Given the description of an element on the screen output the (x, y) to click on. 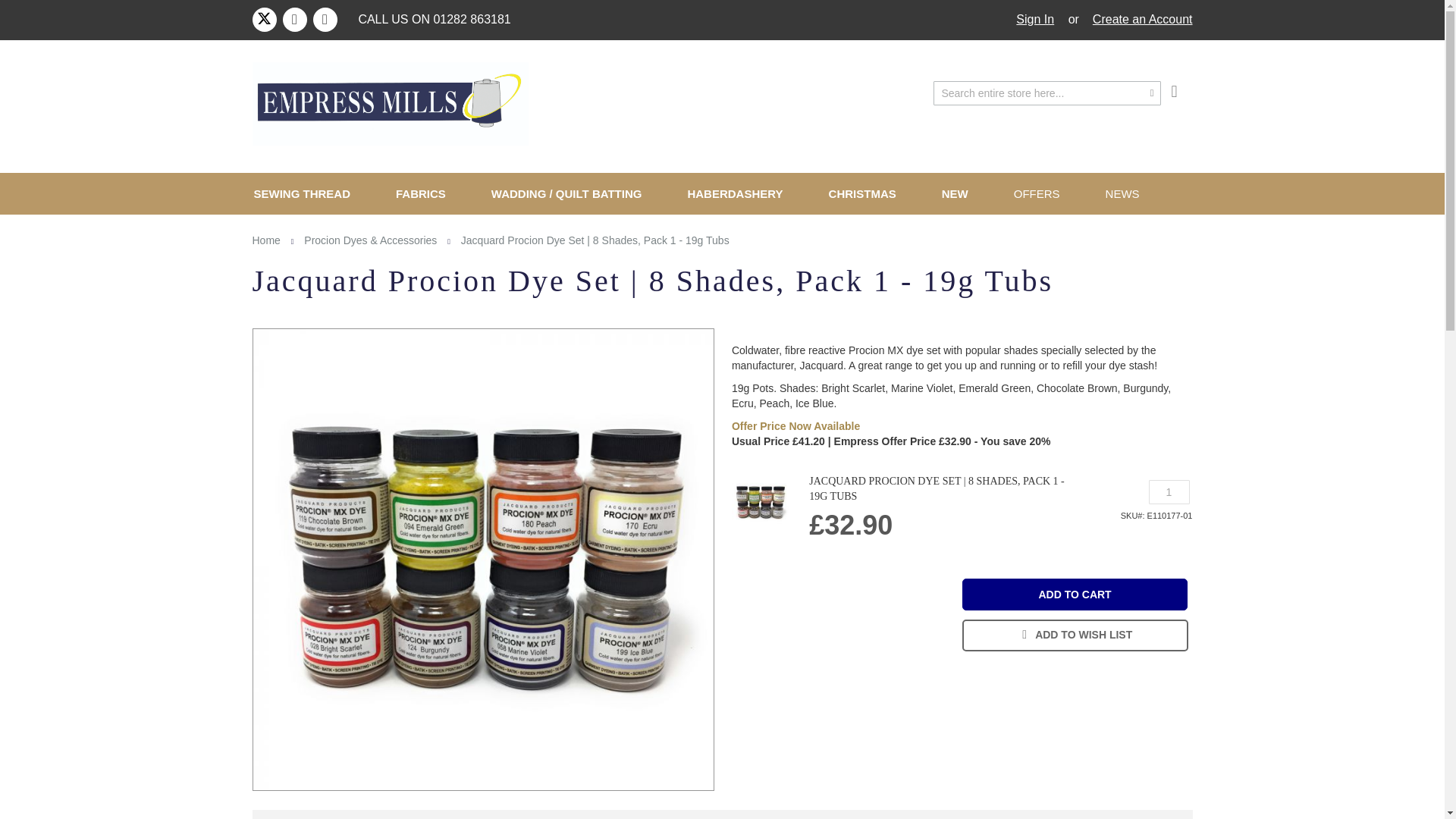
Sign In (1035, 19)
Add to Cart (1075, 594)
Qty (1168, 491)
SEWING THREAD (307, 193)
1 (1168, 491)
Create an Account (1142, 19)
FABRICS (420, 193)
Go to Home Page (265, 240)
Empress Mills Logo (389, 103)
01282 863181 (471, 19)
